Given the description of an element on the screen output the (x, y) to click on. 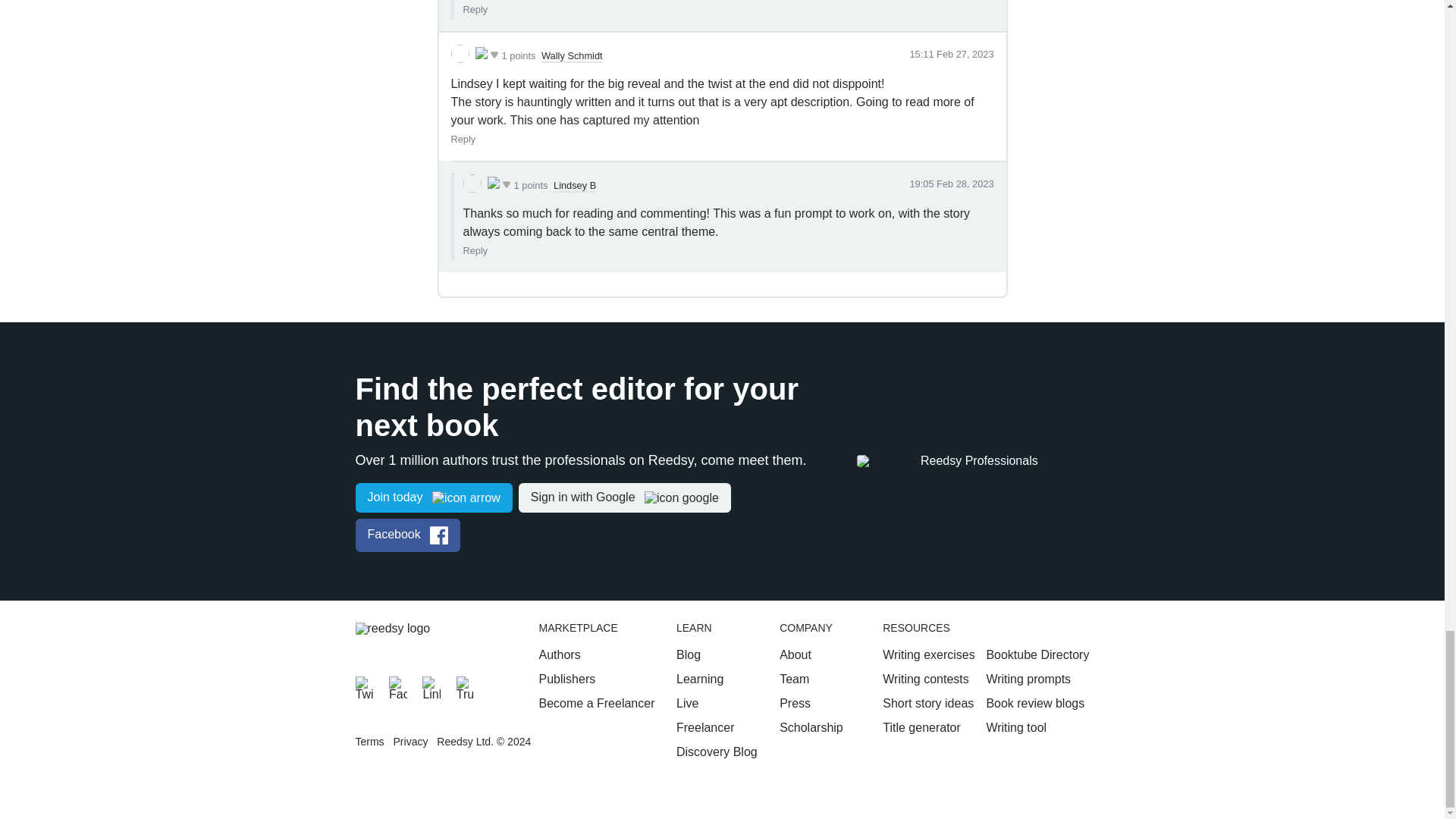
Sign up (433, 497)
Sign in with Facebook (407, 535)
Trustpilot (465, 685)
Twitter (363, 685)
LinkedIn (431, 685)
Sign in with Google (624, 497)
Facebook (397, 685)
